Given the description of an element on the screen output the (x, y) to click on. 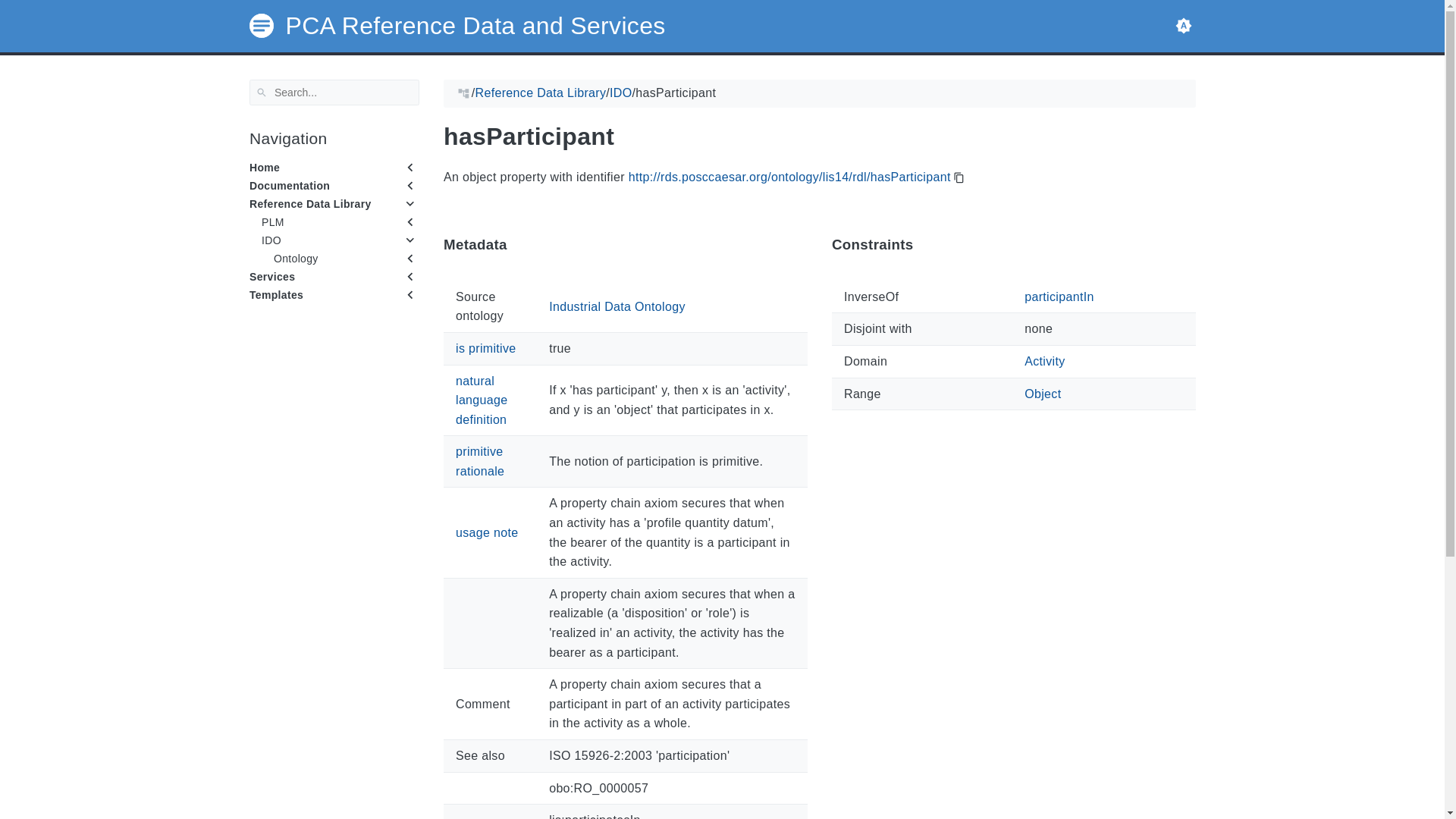
PCA Reference Data and Services (456, 26)
IDO (270, 240)
PLM (271, 222)
Documentation (288, 185)
